Given the description of an element on the screen output the (x, y) to click on. 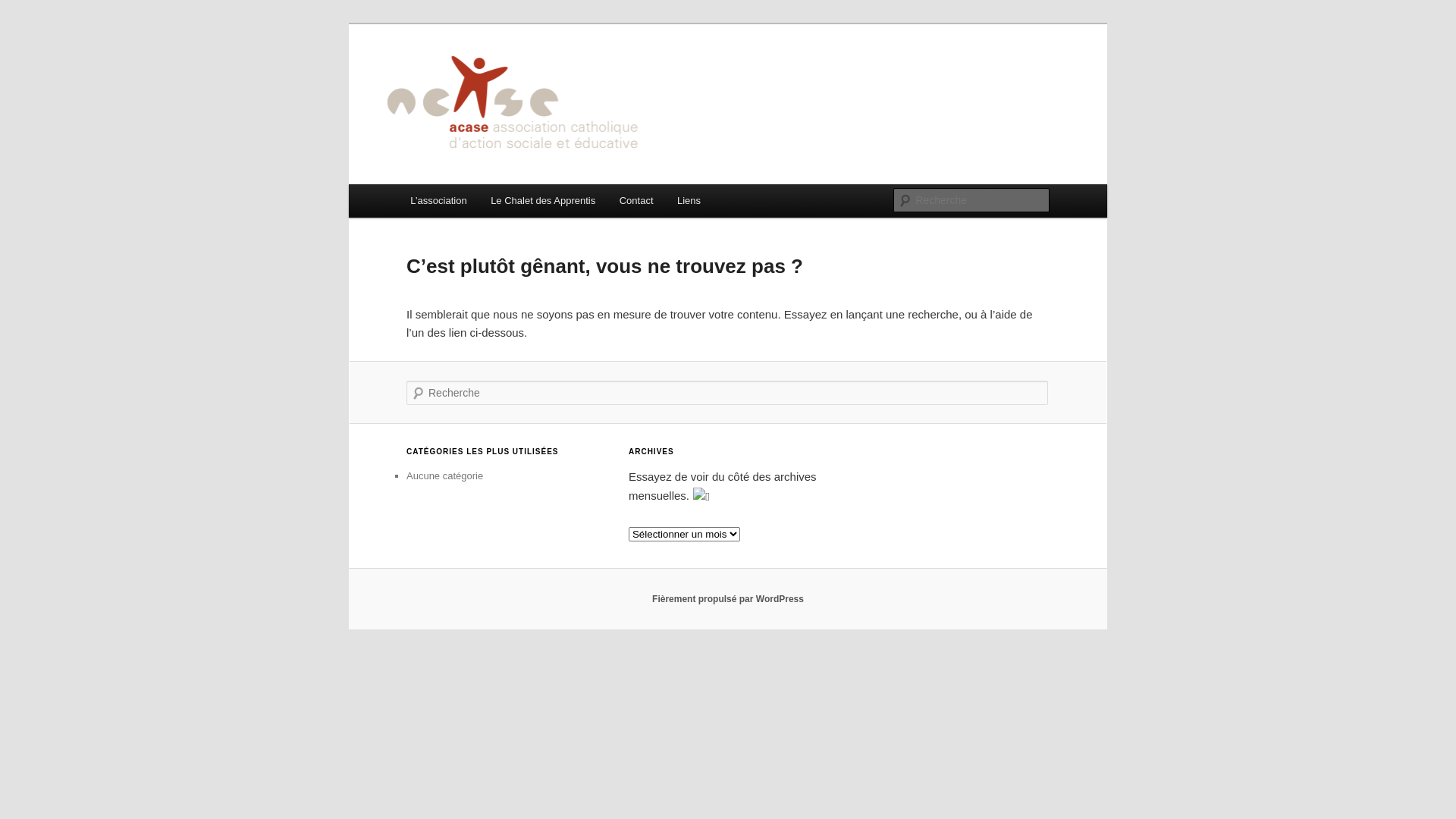
Le Chalet des Apprentis Element type: text (542, 200)
Liens Element type: text (688, 200)
Acase Element type: text (439, 78)
Aller au contenu principal Element type: text (22, 22)
Recherche Element type: text (33, 8)
Contact Element type: text (636, 200)
